Given the description of an element on the screen output the (x, y) to click on. 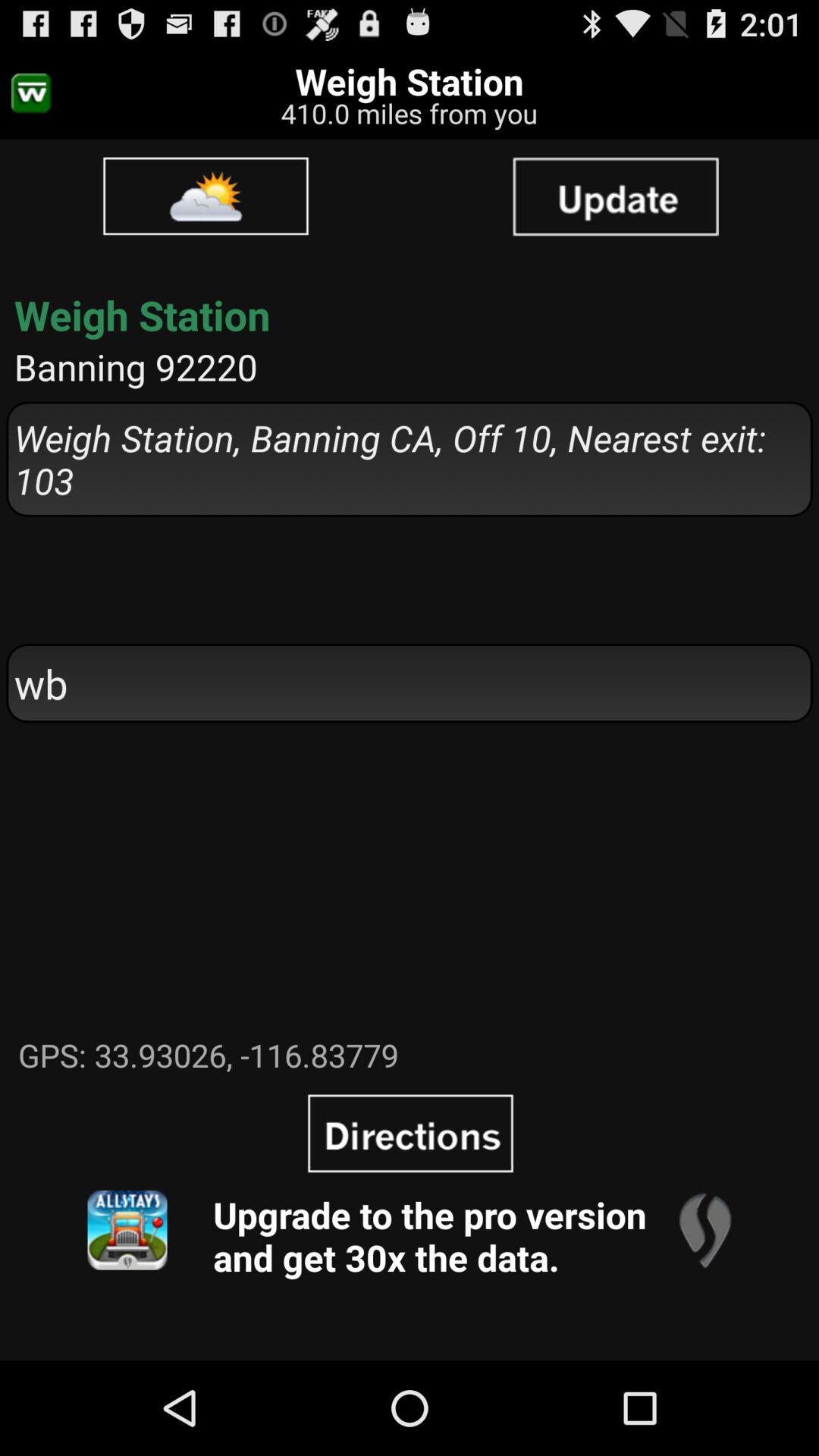
click icon below gps 33 93026 (127, 1230)
